Given the description of an element on the screen output the (x, y) to click on. 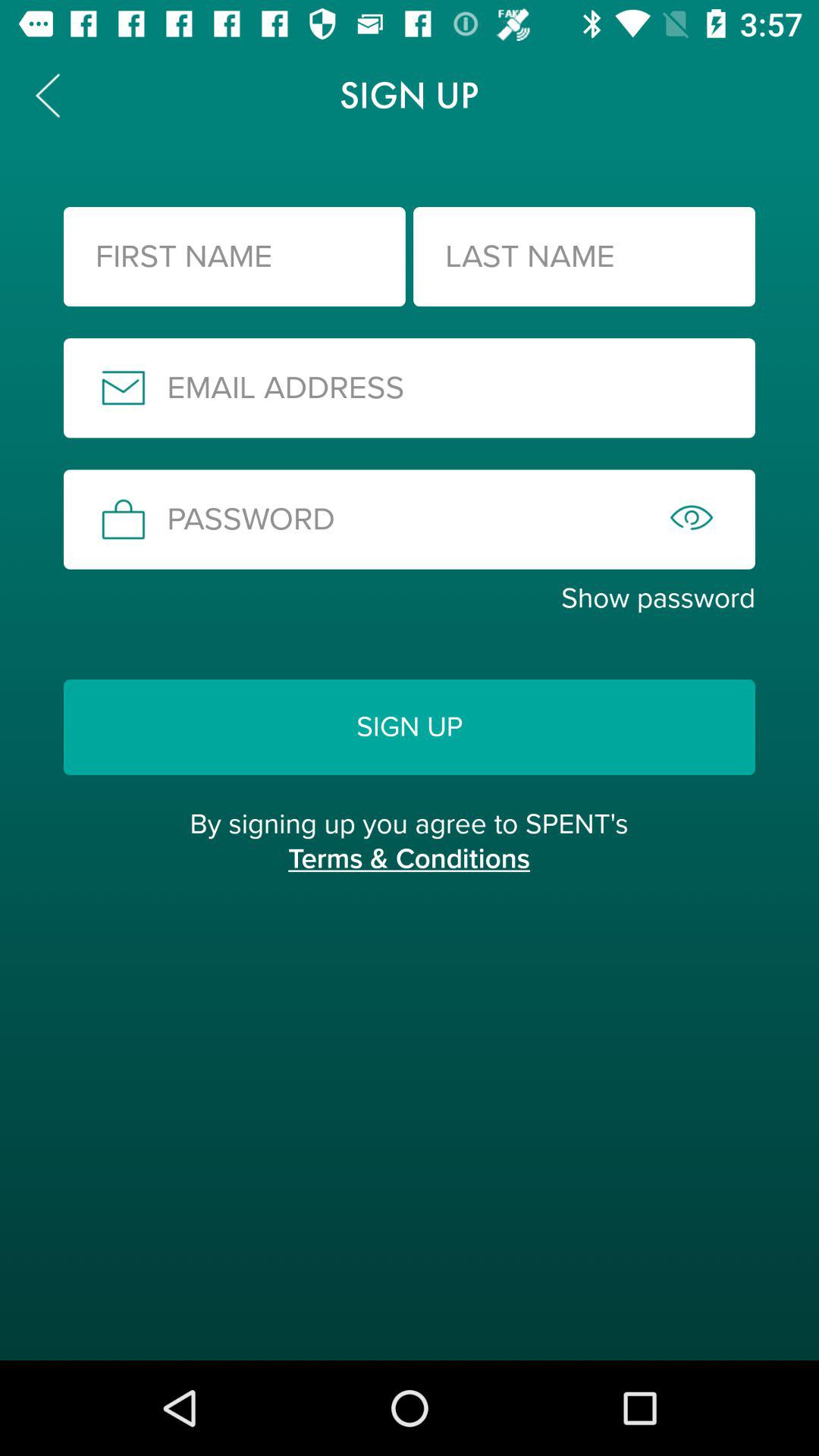
open keyboard to enter name (234, 256)
